Given the description of an element on the screen output the (x, y) to click on. 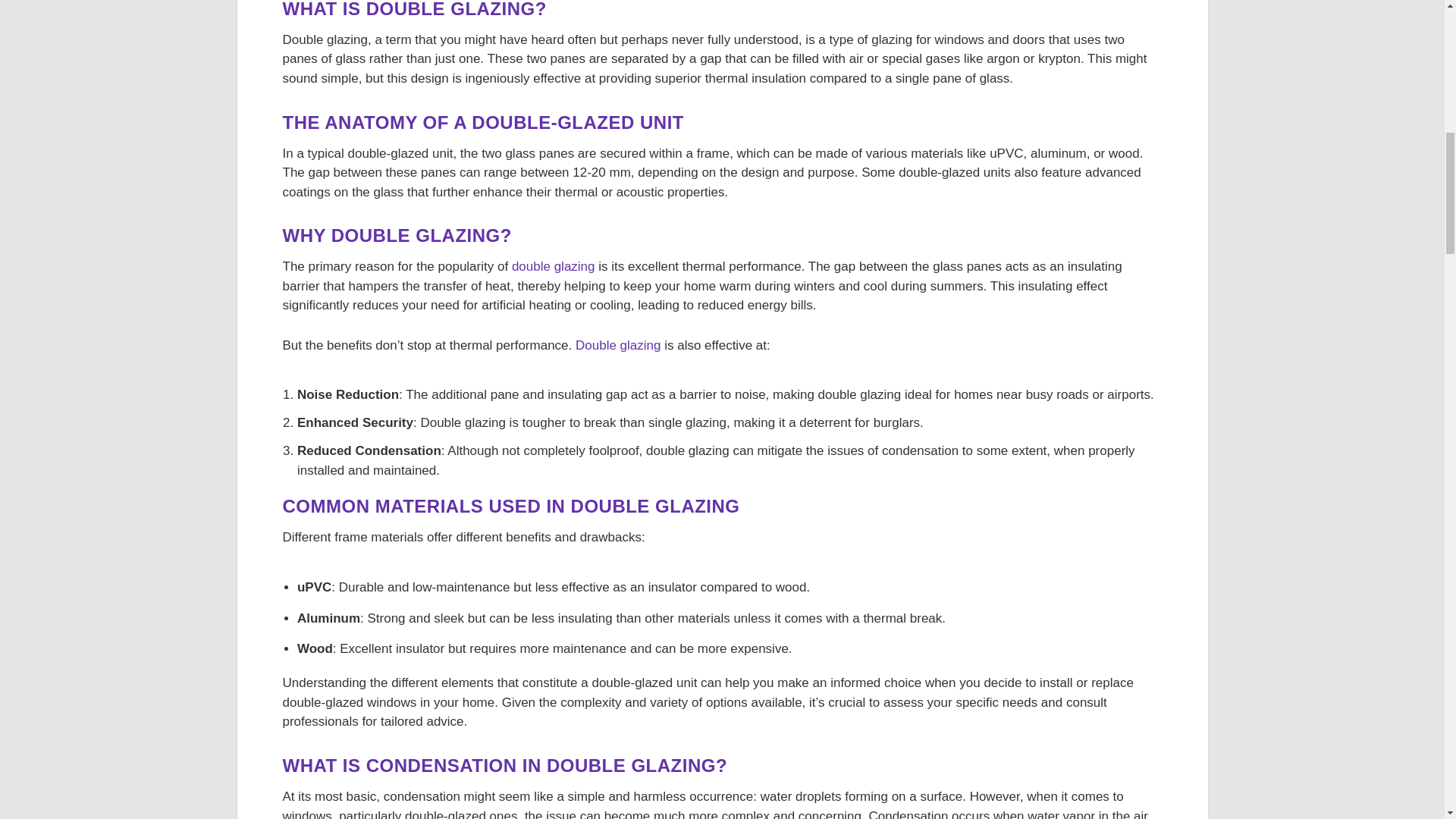
double glazing (553, 266)
Double glazing (618, 345)
